Given the description of an element on the screen output the (x, y) to click on. 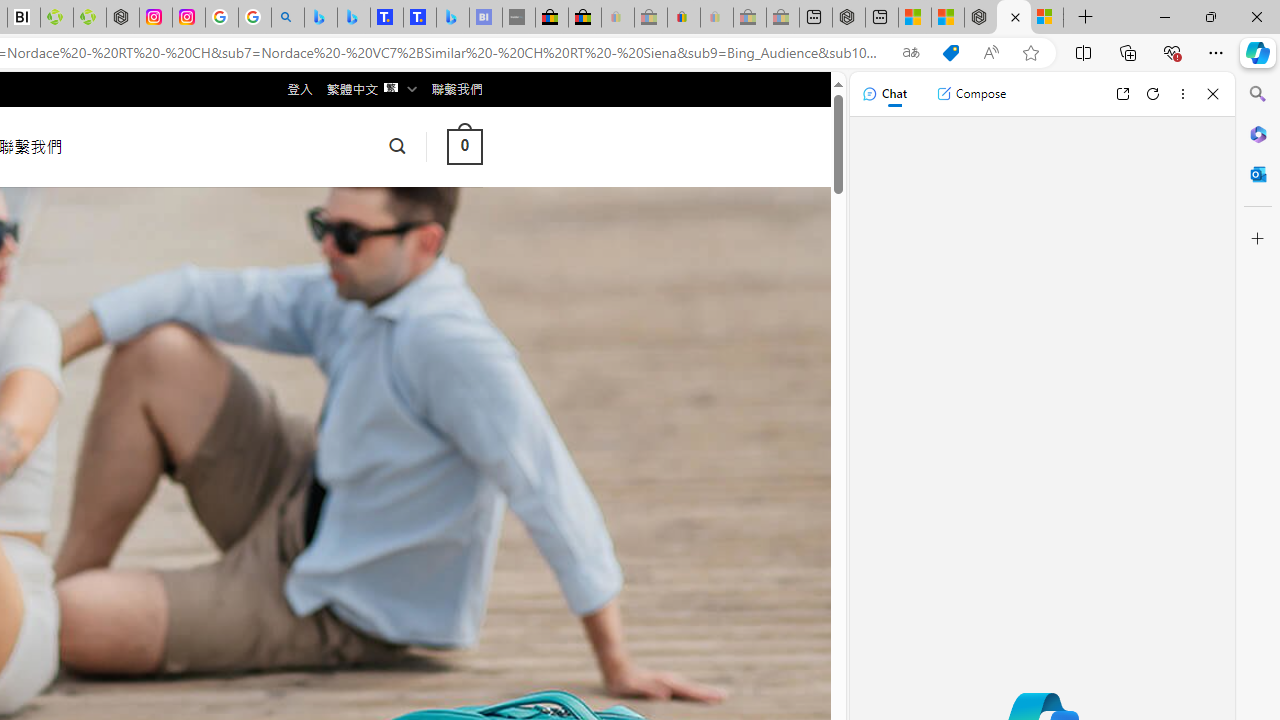
Compose (971, 93)
Outlook (1258, 174)
Payments Terms of Use | eBay.com - Sleeping (717, 17)
